Given the description of an element on the screen output the (x, y) to click on. 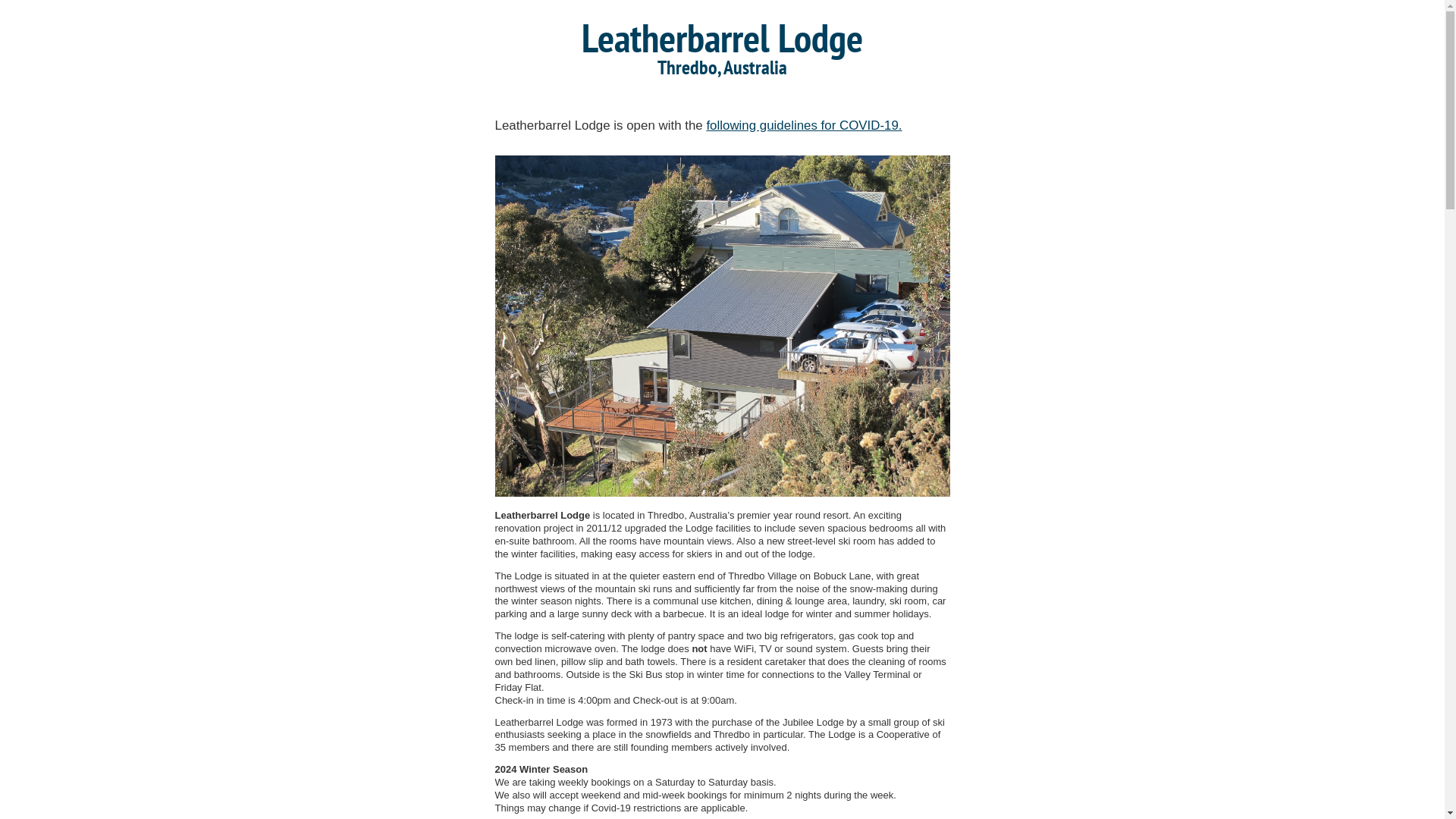
following guidelines for COVID-19. Element type: text (803, 125)
